Given the description of an element on the screen output the (x, y) to click on. 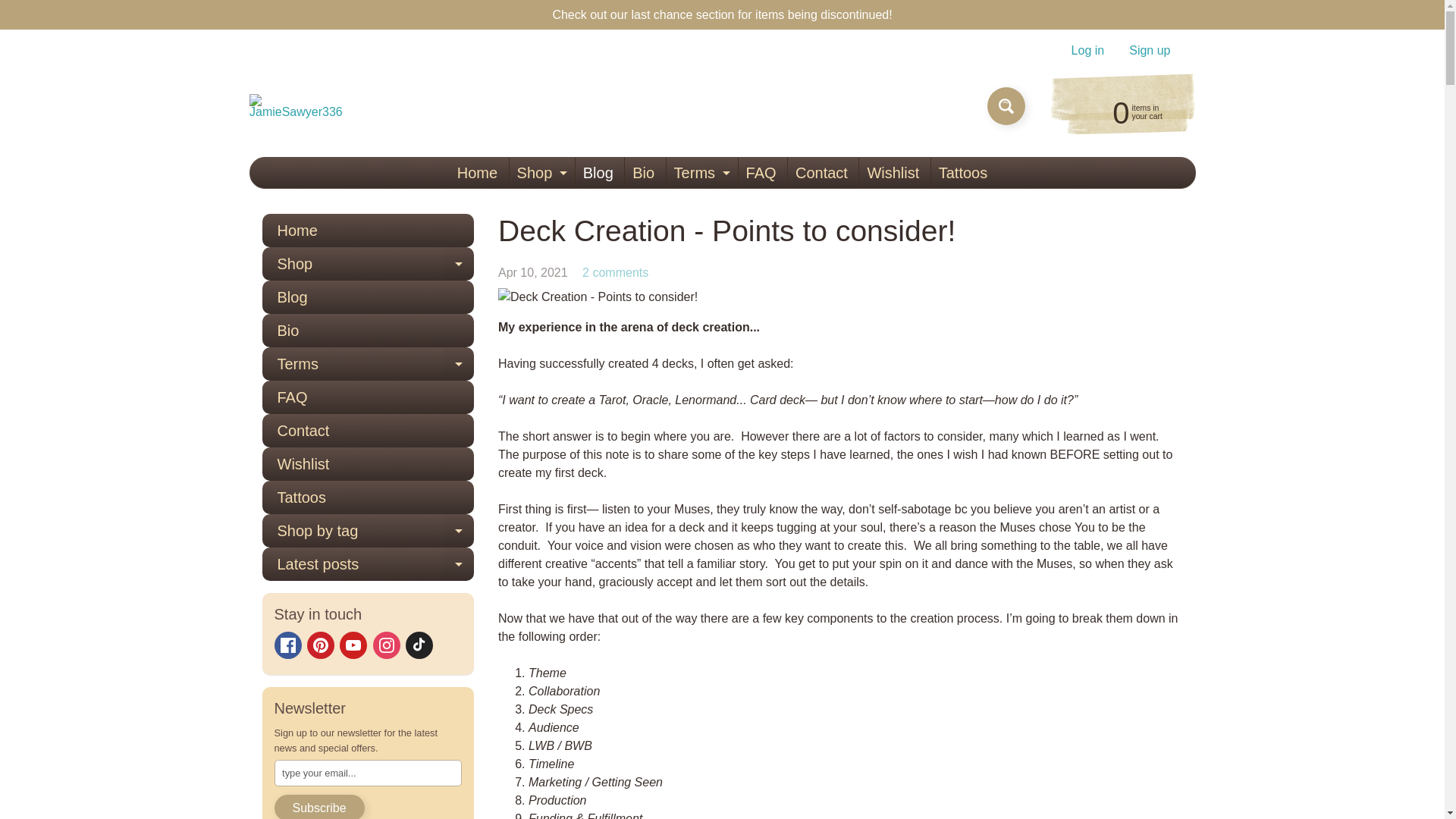
FAQ (1122, 111)
Blog (761, 173)
Facebook (598, 173)
TikTok (288, 645)
Home (419, 645)
Instagram (477, 173)
Log in (386, 645)
Skip to content (1088, 50)
JamieSawyer336 (22, 8)
Search (699, 173)
Bio (295, 105)
